Given the description of an element on the screen output the (x, y) to click on. 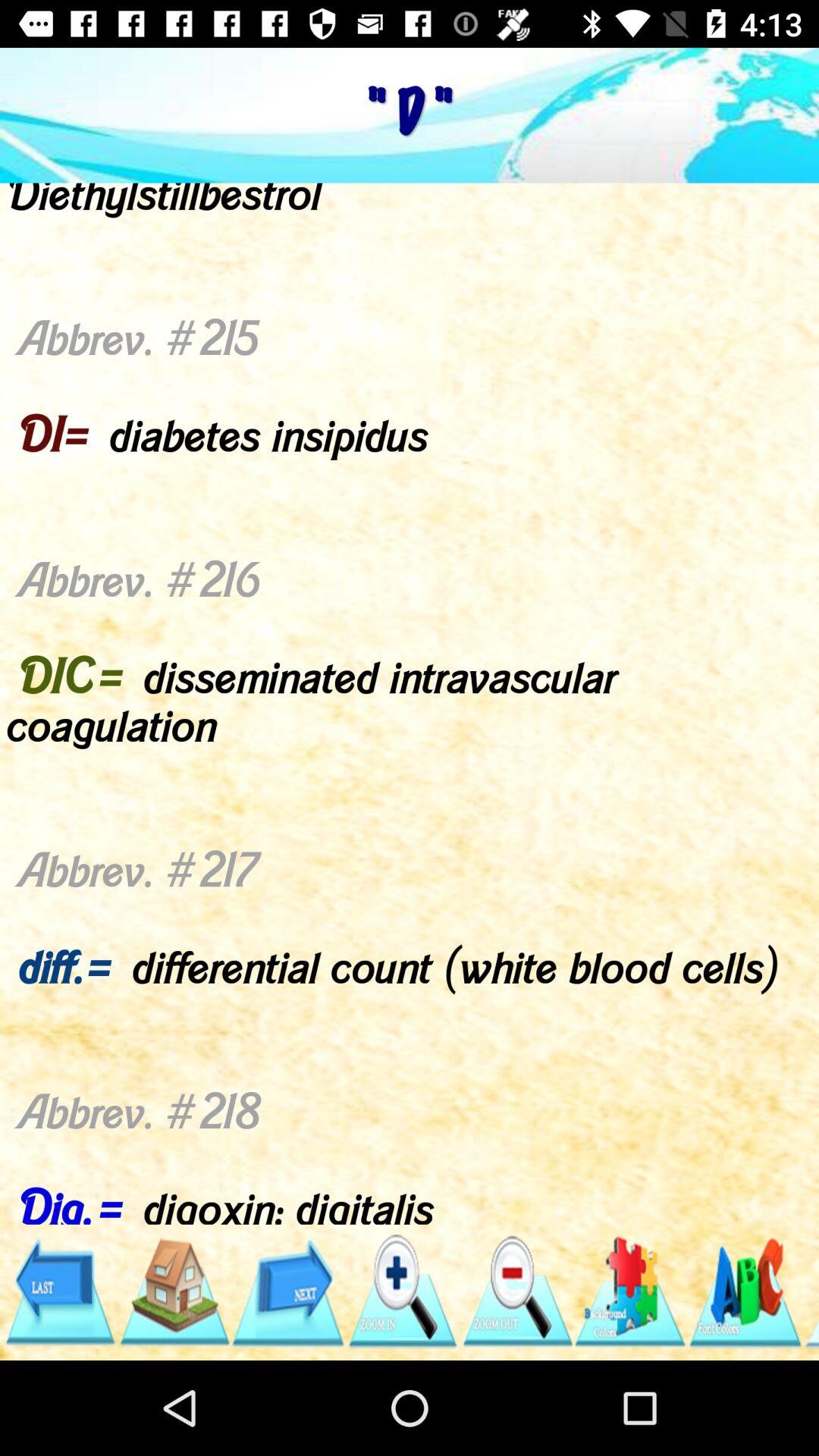
zoom up (402, 1291)
